Given the description of an element on the screen output the (x, y) to click on. 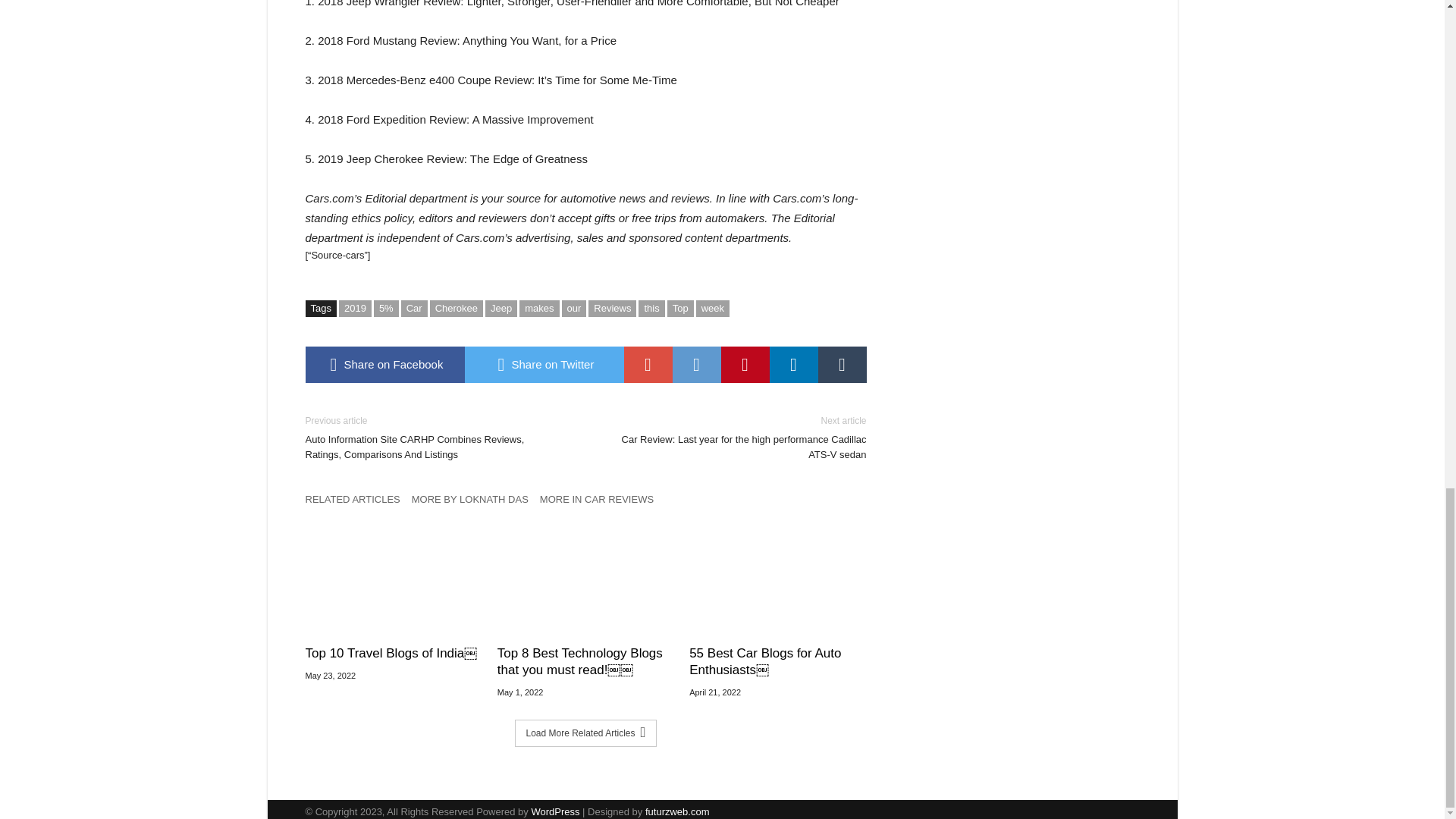
Share on Pinterest (744, 364)
week (712, 308)
google (647, 364)
Reviews (612, 308)
this (651, 308)
Top (680, 308)
facebook (384, 364)
Cherokee (456, 308)
Share on Facebook (384, 364)
makes (539, 308)
